Given the description of an element on the screen output the (x, y) to click on. 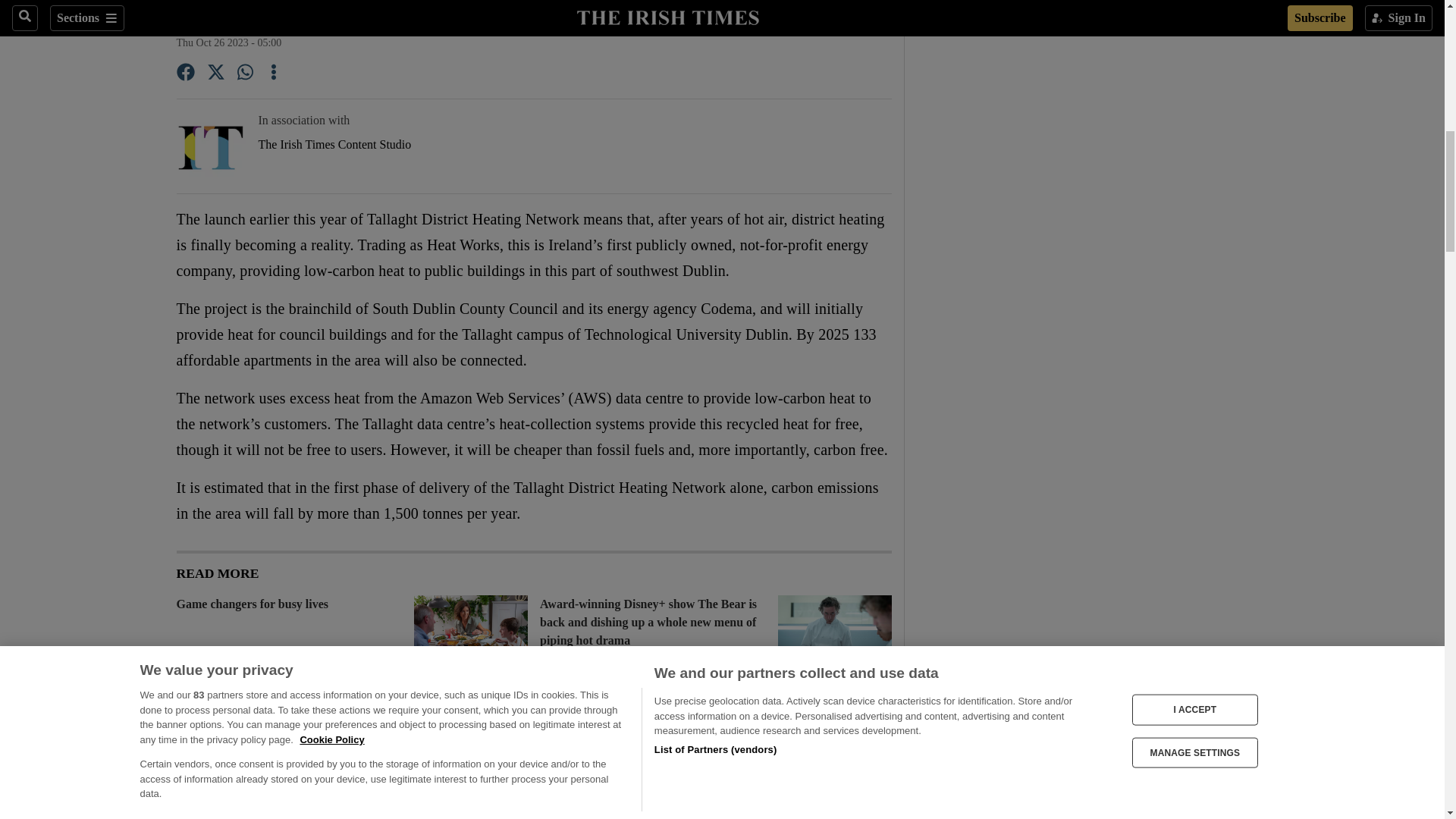
X (215, 74)
WhatsApp (244, 74)
Facebook (184, 74)
